Given the description of an element on the screen output the (x, y) to click on. 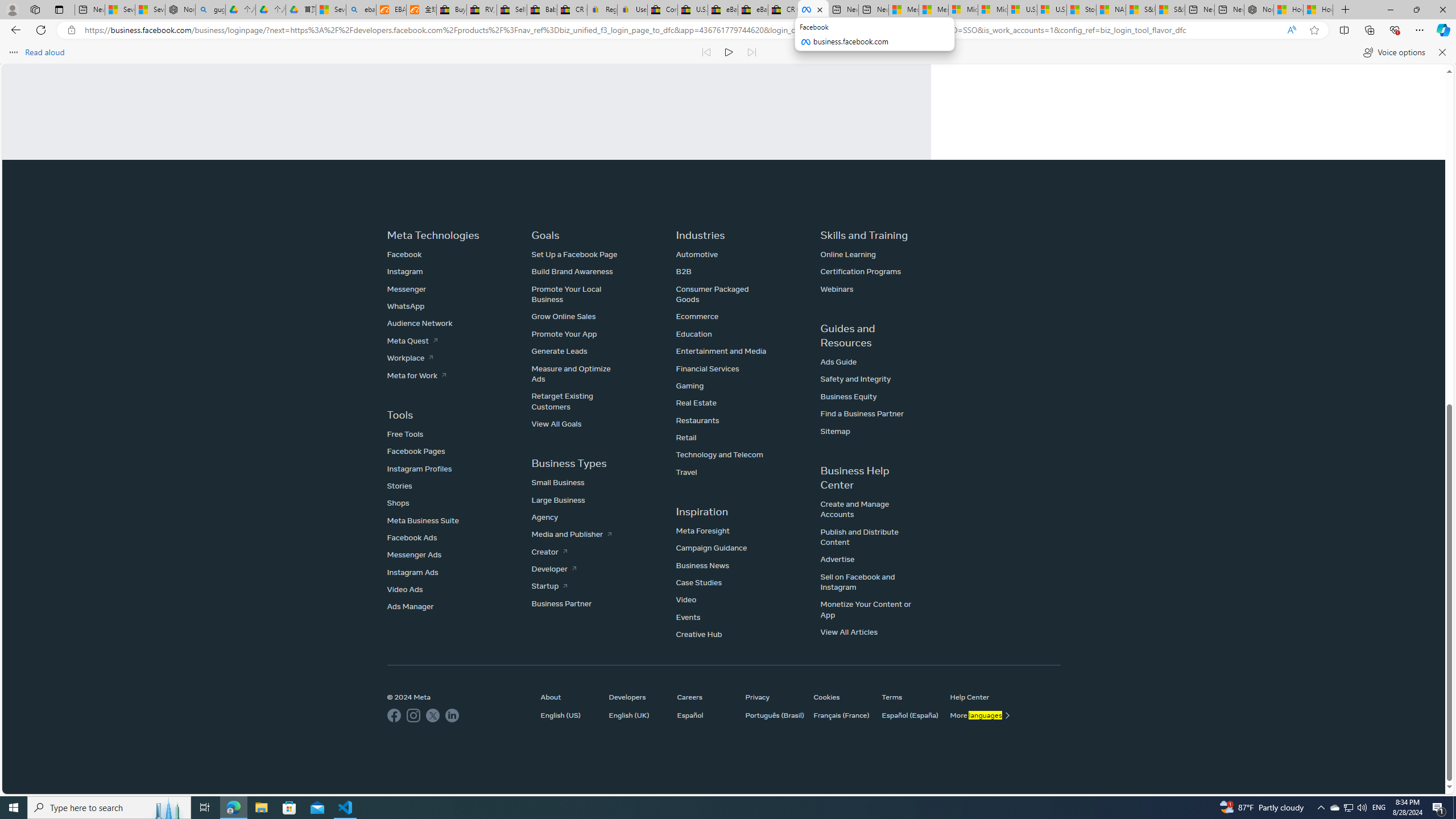
Case Studies (698, 582)
Terms (910, 696)
Business Equity (847, 396)
B2B (683, 271)
Automotive (696, 253)
Agency (545, 517)
Continue to read aloud (Ctrl+Shift+U) (729, 52)
About (568, 696)
Voice options (1393, 52)
Restaurants (697, 420)
